Given the description of an element on the screen output the (x, y) to click on. 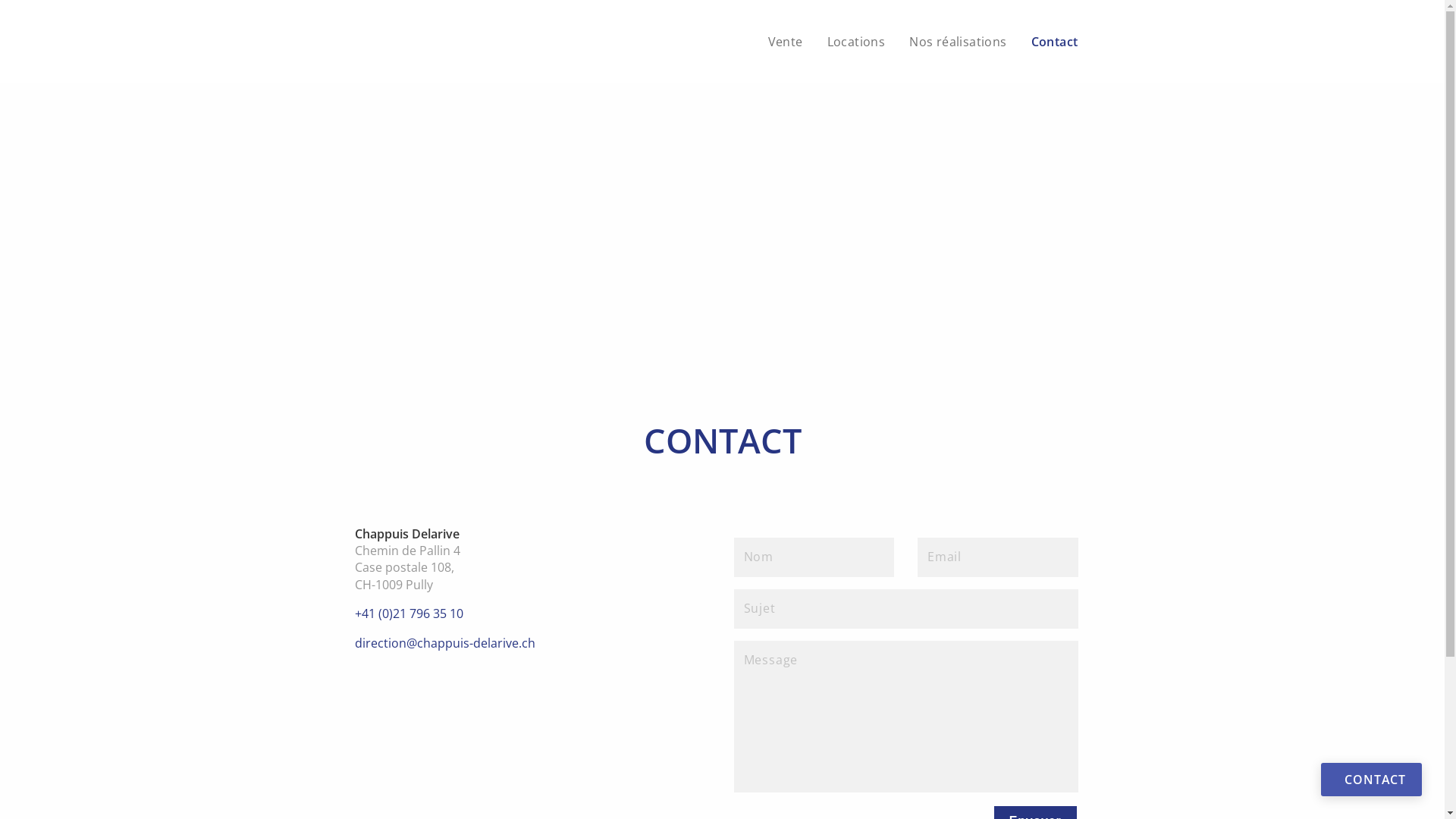
CONTACT Element type: text (1371, 779)
Vente Element type: text (785, 41)
+41 (0)21 796 35 10 Element type: text (408, 613)
Contact Element type: text (1054, 41)
Locations Element type: text (856, 41)
direction@chappuis-delarive.ch Element type: text (444, 642)
